Given the description of an element on the screen output the (x, y) to click on. 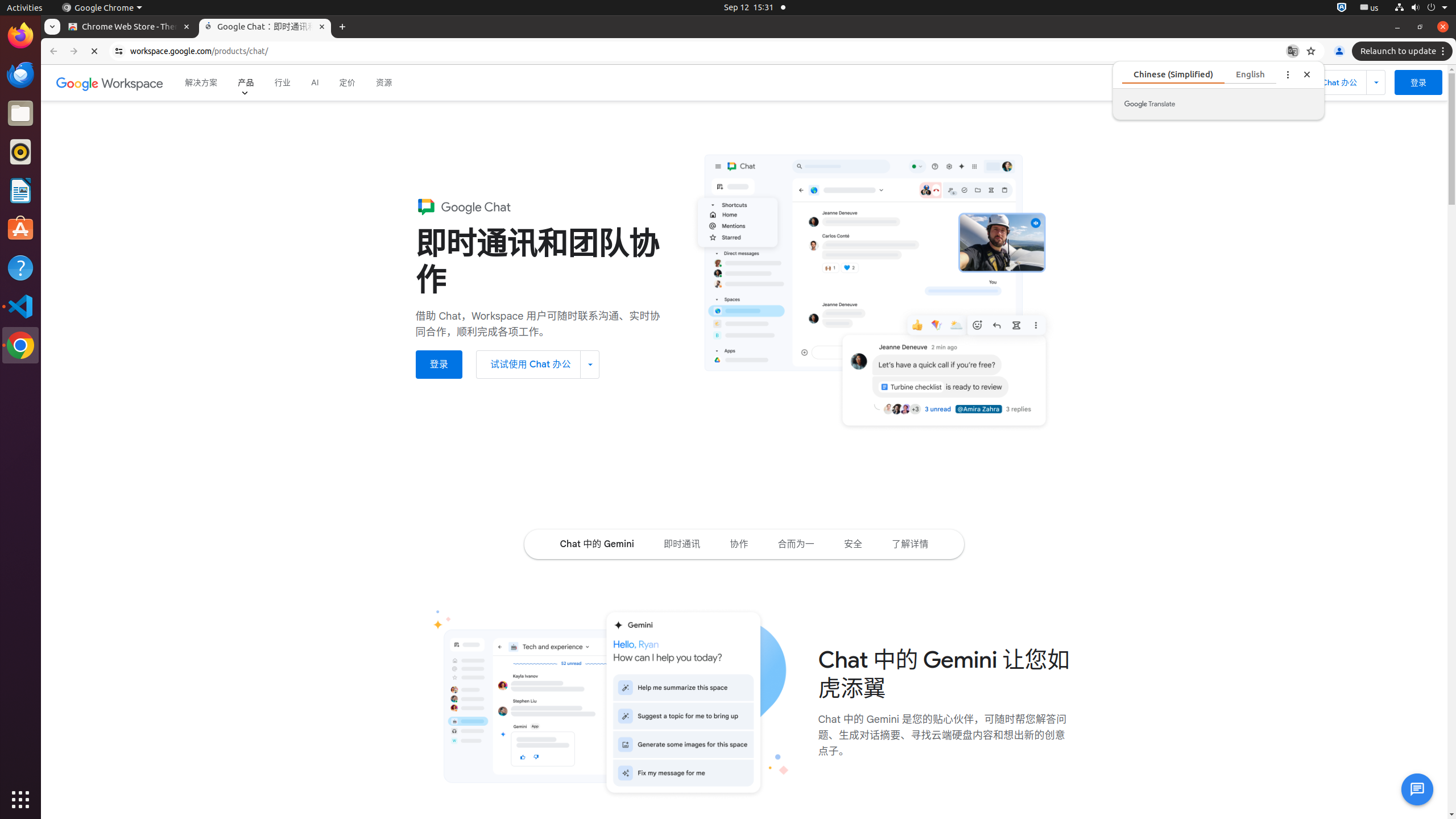
You Element type: push-button (1339, 50)
Show Applications Element type: toggle-button (20, 799)
System Element type: menu (1420, 7)
AI Element type: link (315, 82)
Help Element type: push-button (20, 267)
